Given the description of an element on the screen output the (x, y) to click on. 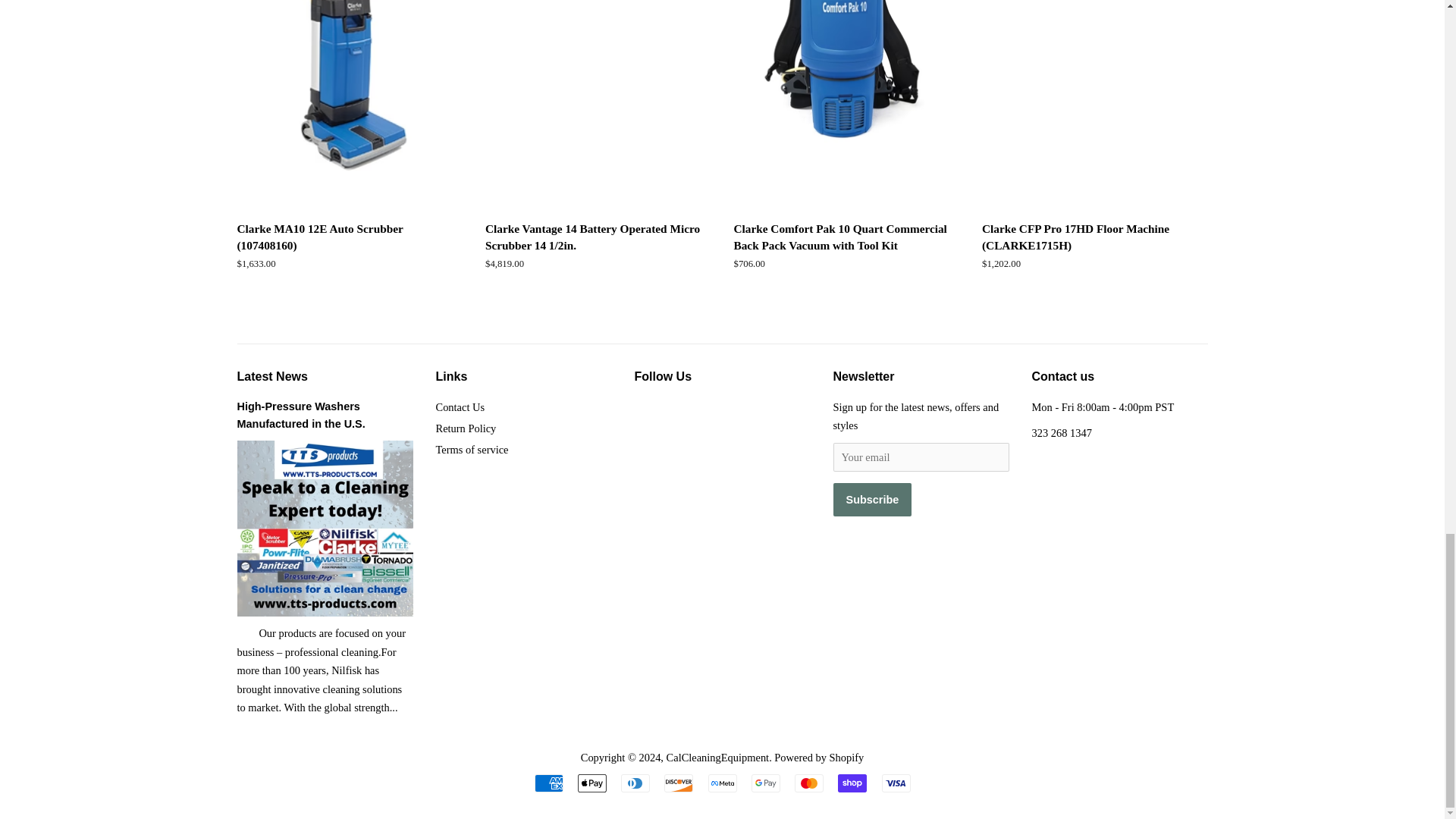
Mastercard (809, 782)
Visa (895, 782)
Discover (678, 782)
Subscribe (871, 499)
Shop Pay (852, 782)
Meta Pay (721, 782)
American Express (548, 782)
Google Pay (765, 782)
Diners Club (635, 782)
Apple Pay (592, 782)
